Given the description of an element on the screen output the (x, y) to click on. 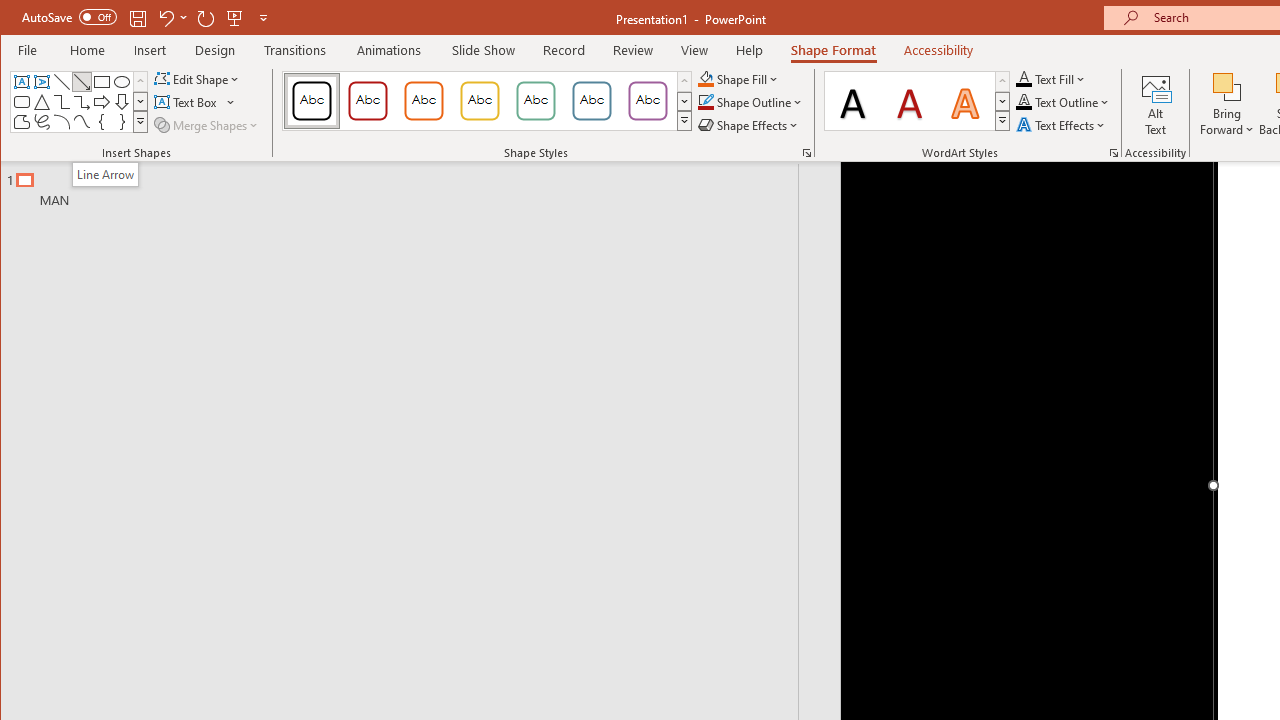
Format Text Effects... (1113, 152)
Colored Outline - Blue-Gray, Accent 5 (591, 100)
Text Effects (1062, 124)
Text Outline RGB(0, 0, 0) (1023, 101)
